Given the description of an element on the screen output the (x, y) to click on. 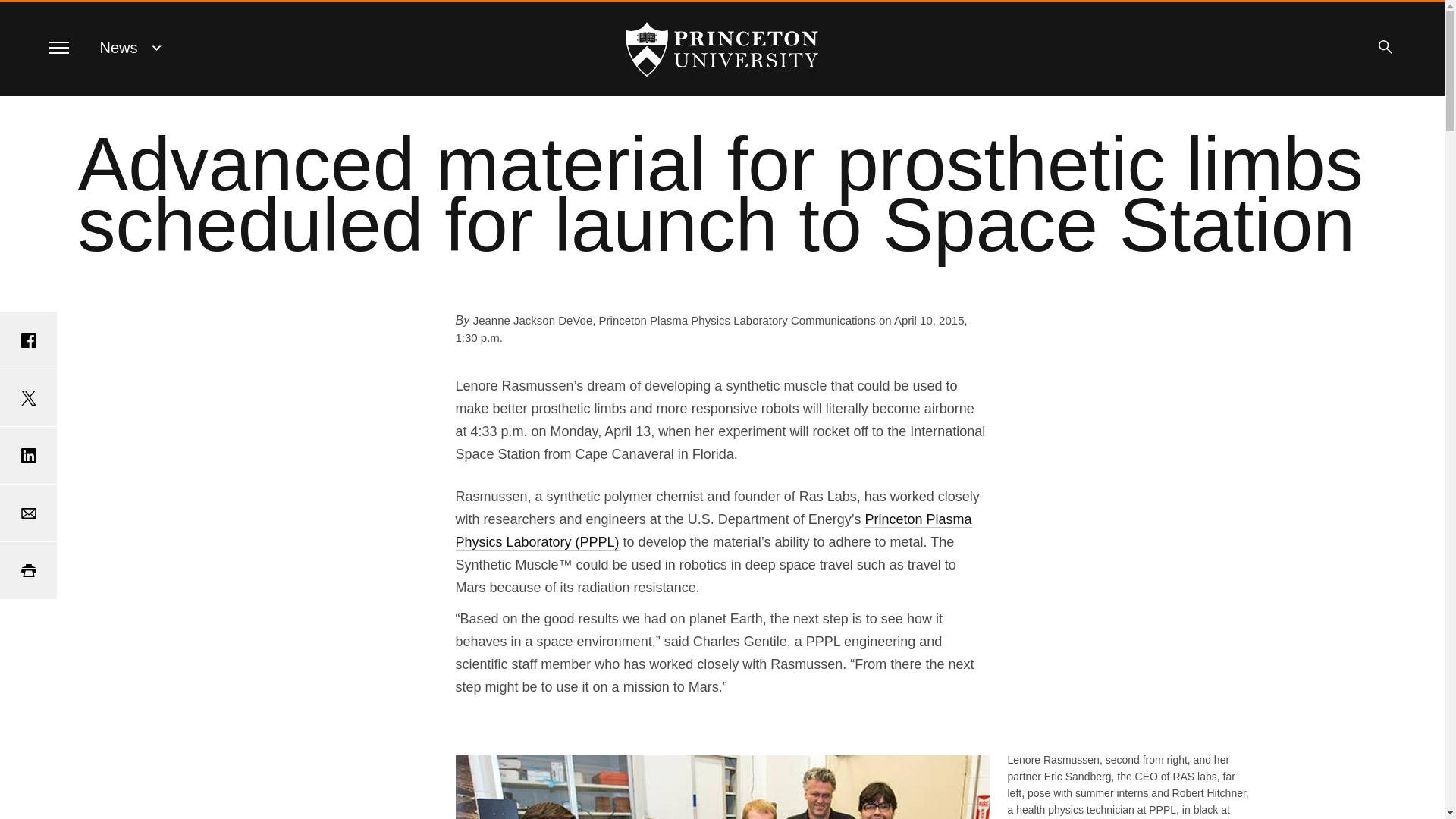
Share on LinkedIn (28, 455)
Share on Facebook (28, 340)
Search (1384, 47)
Share on Twitter (28, 397)
SKIP TO MAIN CONTENT (22, 13)
Menu (57, 47)
Email (28, 512)
Print (28, 570)
News (119, 47)
Home (722, 49)
Princeton University (722, 49)
